Given the description of an element on the screen output the (x, y) to click on. 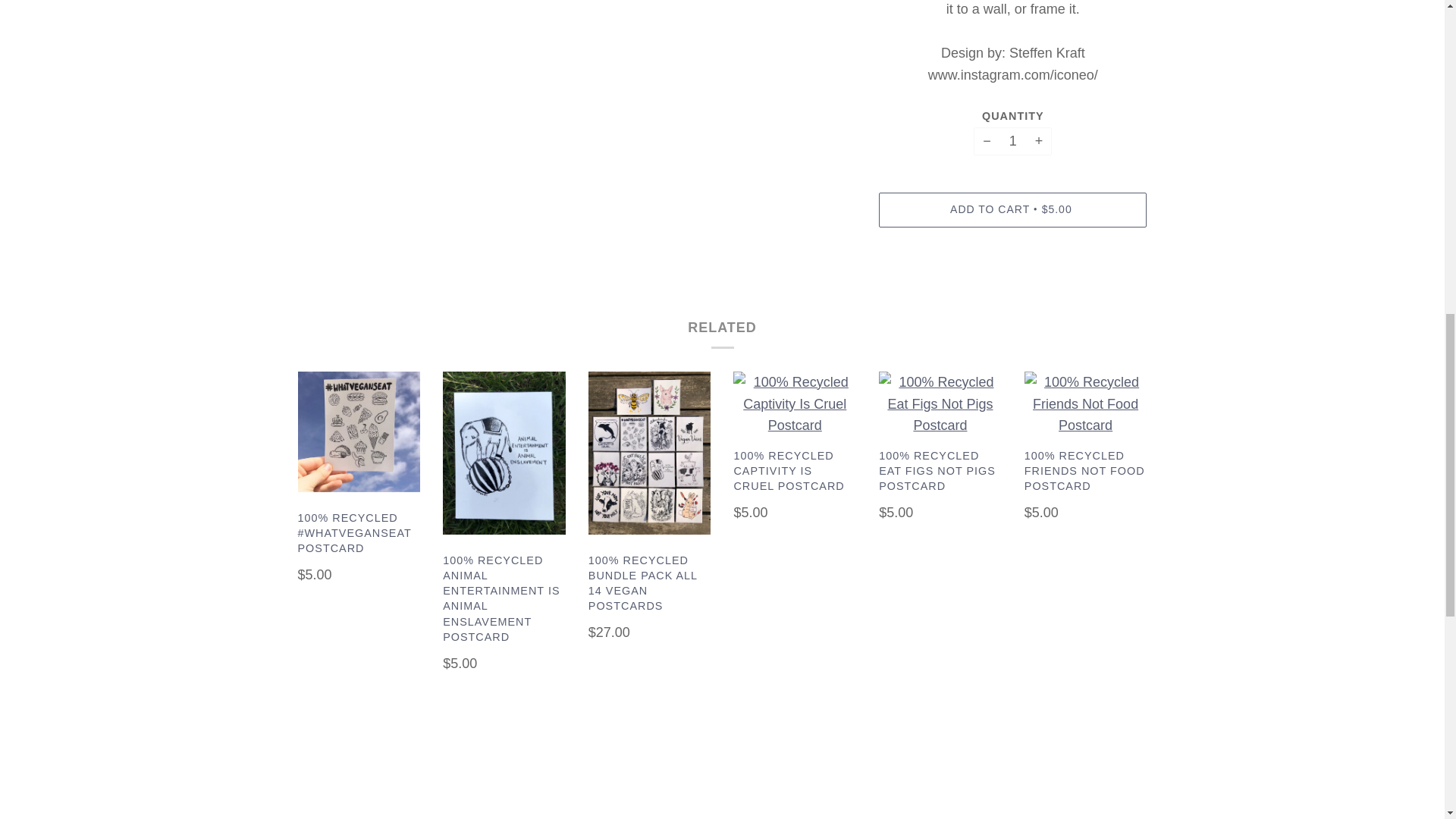
1 (1012, 141)
